Given the description of an element on the screen output the (x, y) to click on. 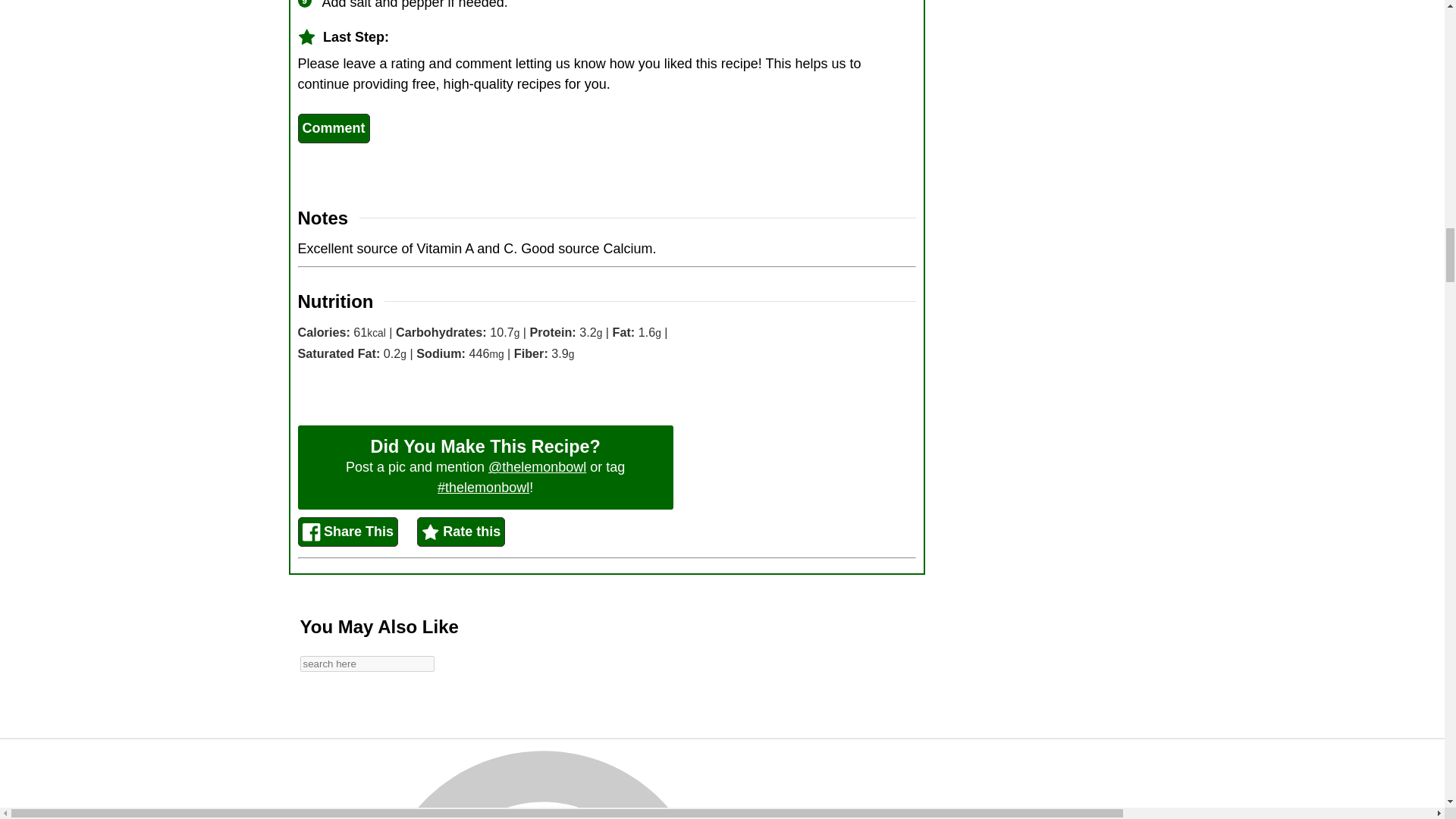
Rate this (460, 531)
Share This (347, 531)
Rate this (460, 531)
Comment (333, 128)
